Given the description of an element on the screen output the (x, y) to click on. 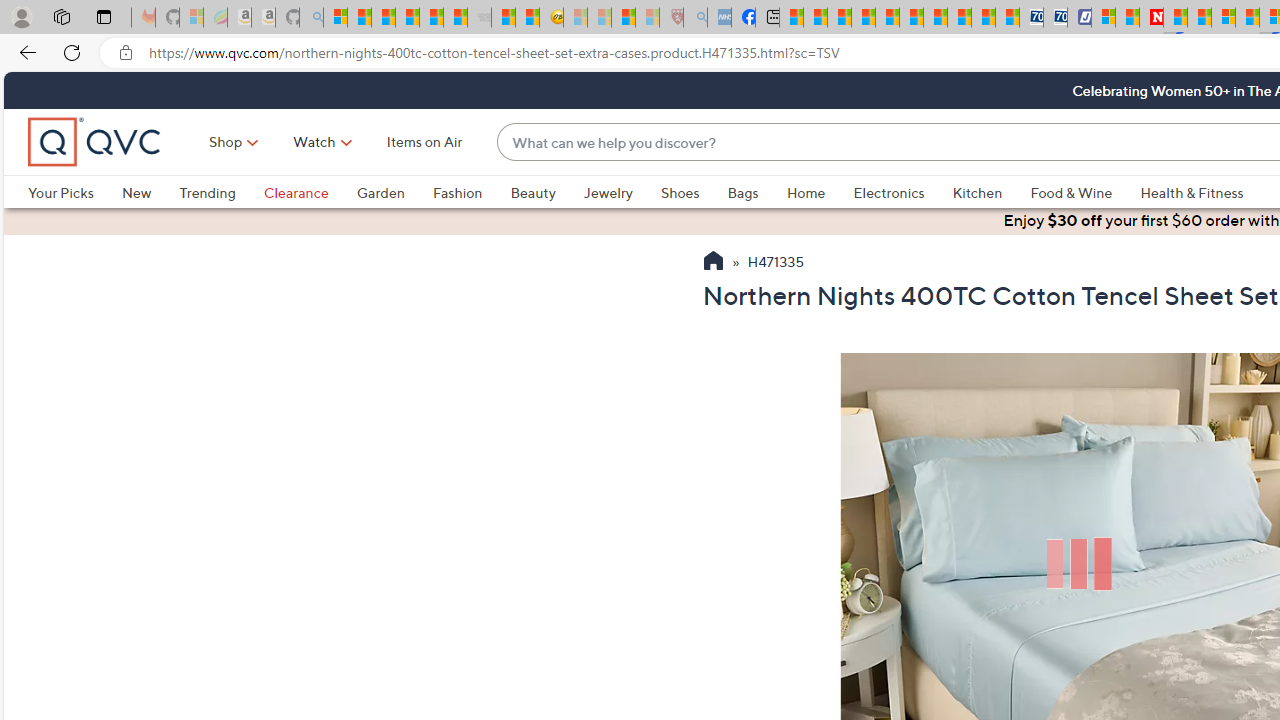
Food & Wine (1071, 192)
Beauty (532, 192)
Cheap Car Rentals - Save70.com (1031, 17)
Health & Fitness (1197, 192)
Health & Fitness (1192, 192)
Trending (221, 192)
Kitchen (977, 192)
